Given the description of an element on the screen output the (x, y) to click on. 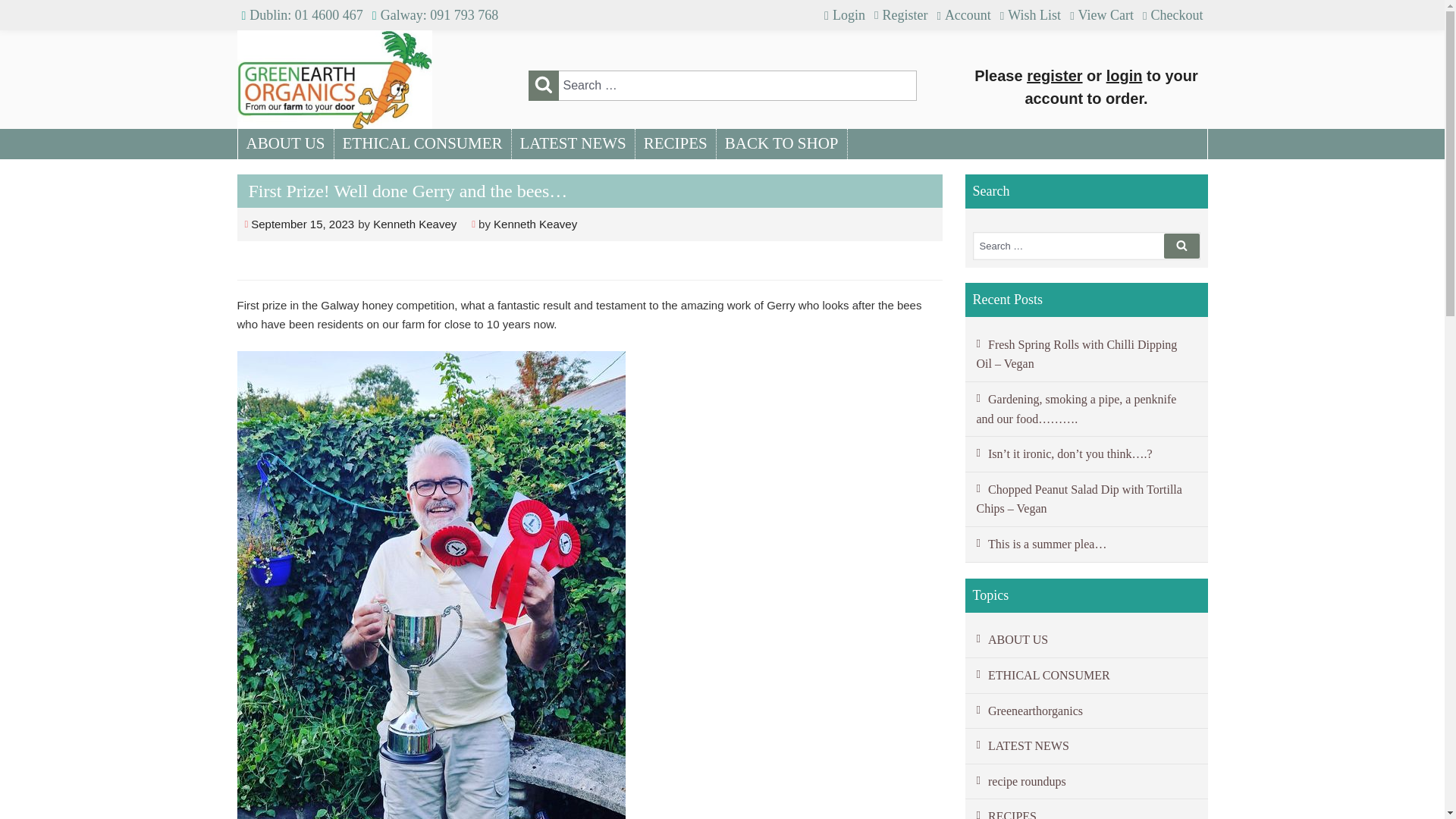
ETHICAL CONSUMER (422, 143)
our core values (1085, 675)
Kenneth Keavey (534, 223)
Search (542, 83)
BACK TO SHOP (781, 143)
Register (900, 15)
Checkout (1172, 15)
login (1124, 75)
the latest buzz from the farm (1085, 746)
RECIPES (675, 143)
